Given the description of an element on the screen output the (x, y) to click on. 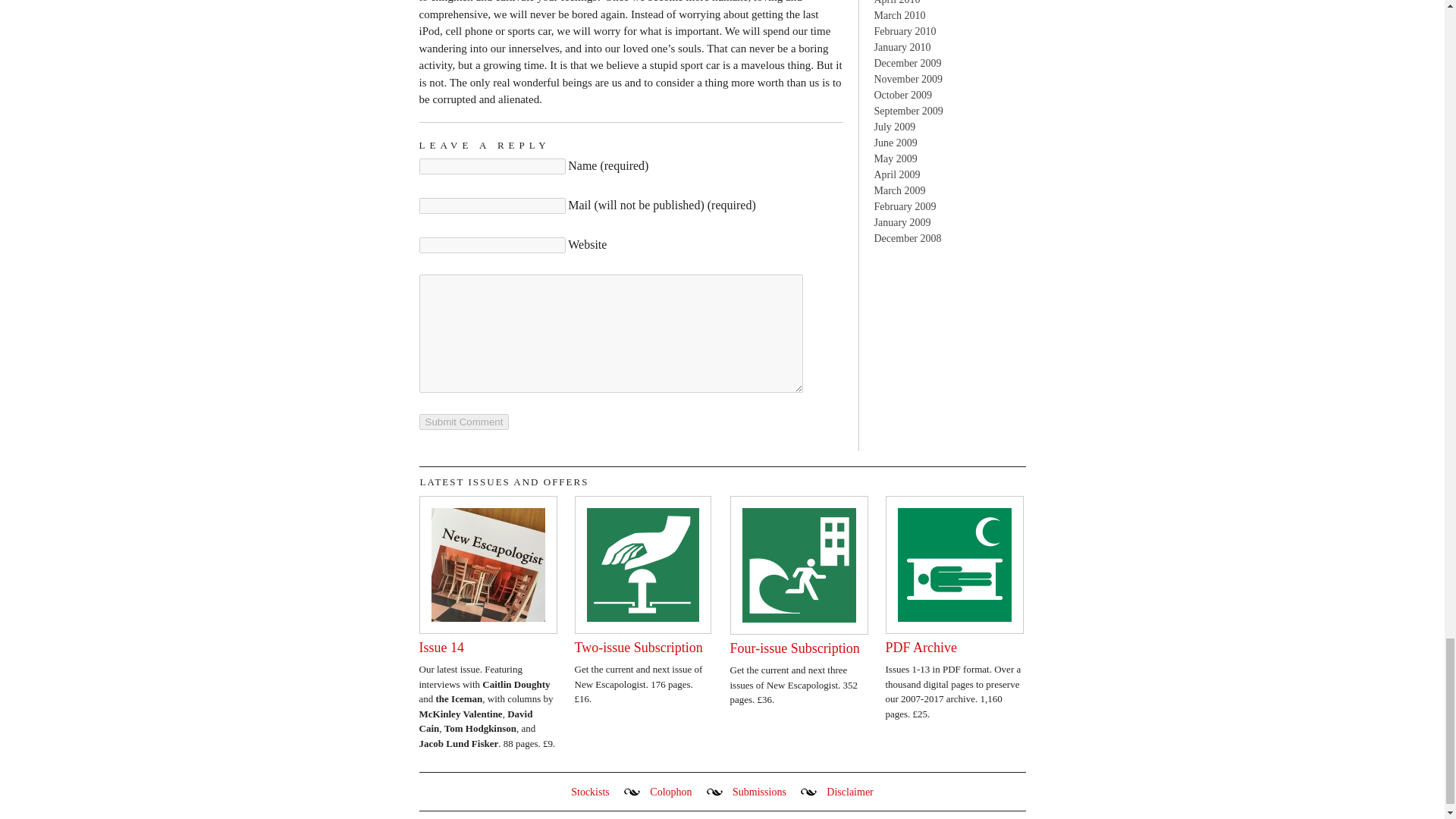
Submit Comment (463, 421)
Submit Comment (463, 421)
